Given the description of an element on the screen output the (x, y) to click on. 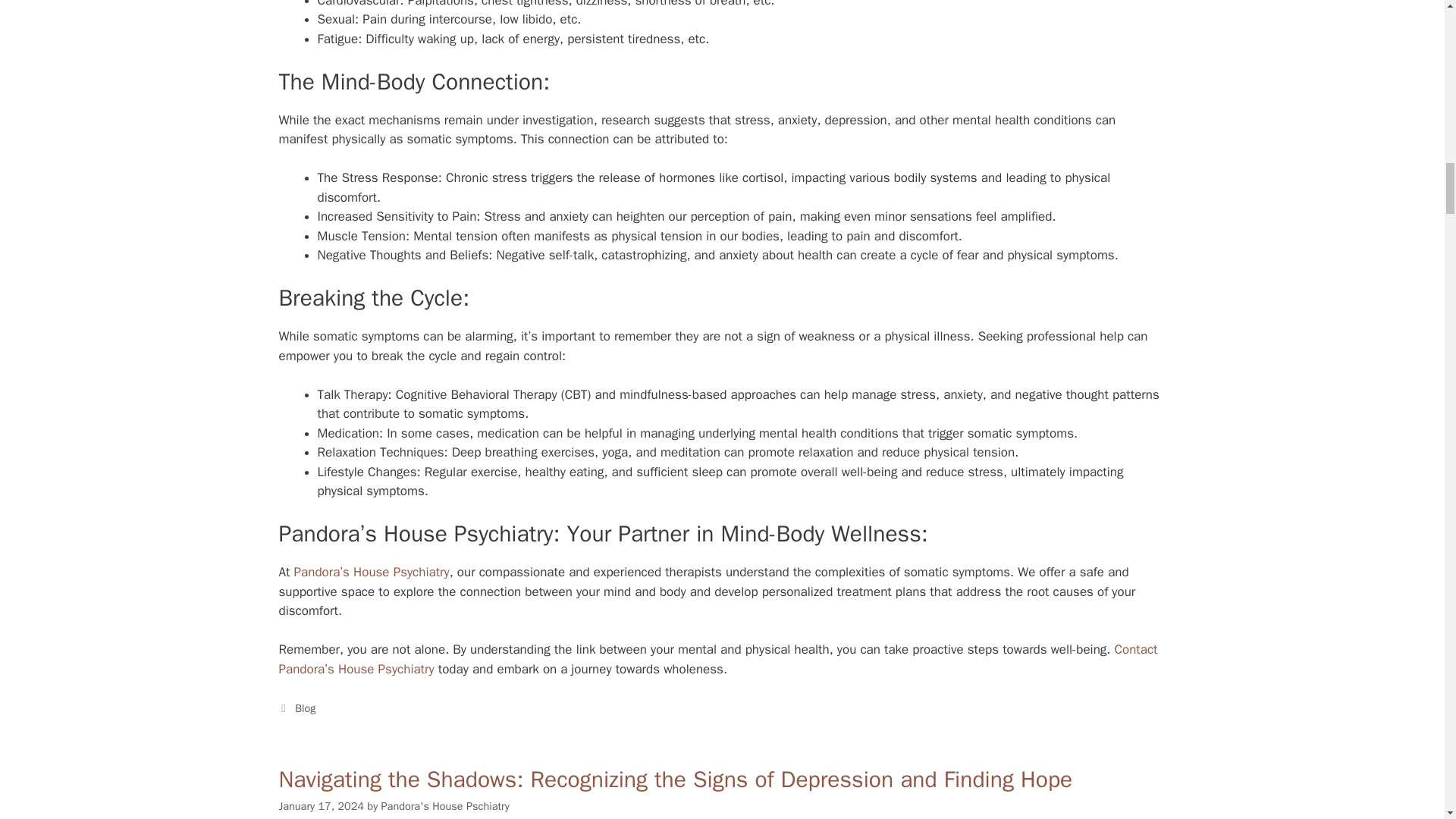
Blog (305, 707)
Pandora's House Pschiatry (445, 806)
10:10 pm (322, 806)
January 17, 2024 (322, 806)
View all posts by Pandora's House Pschiatry (445, 806)
